Given the description of an element on the screen output the (x, y) to click on. 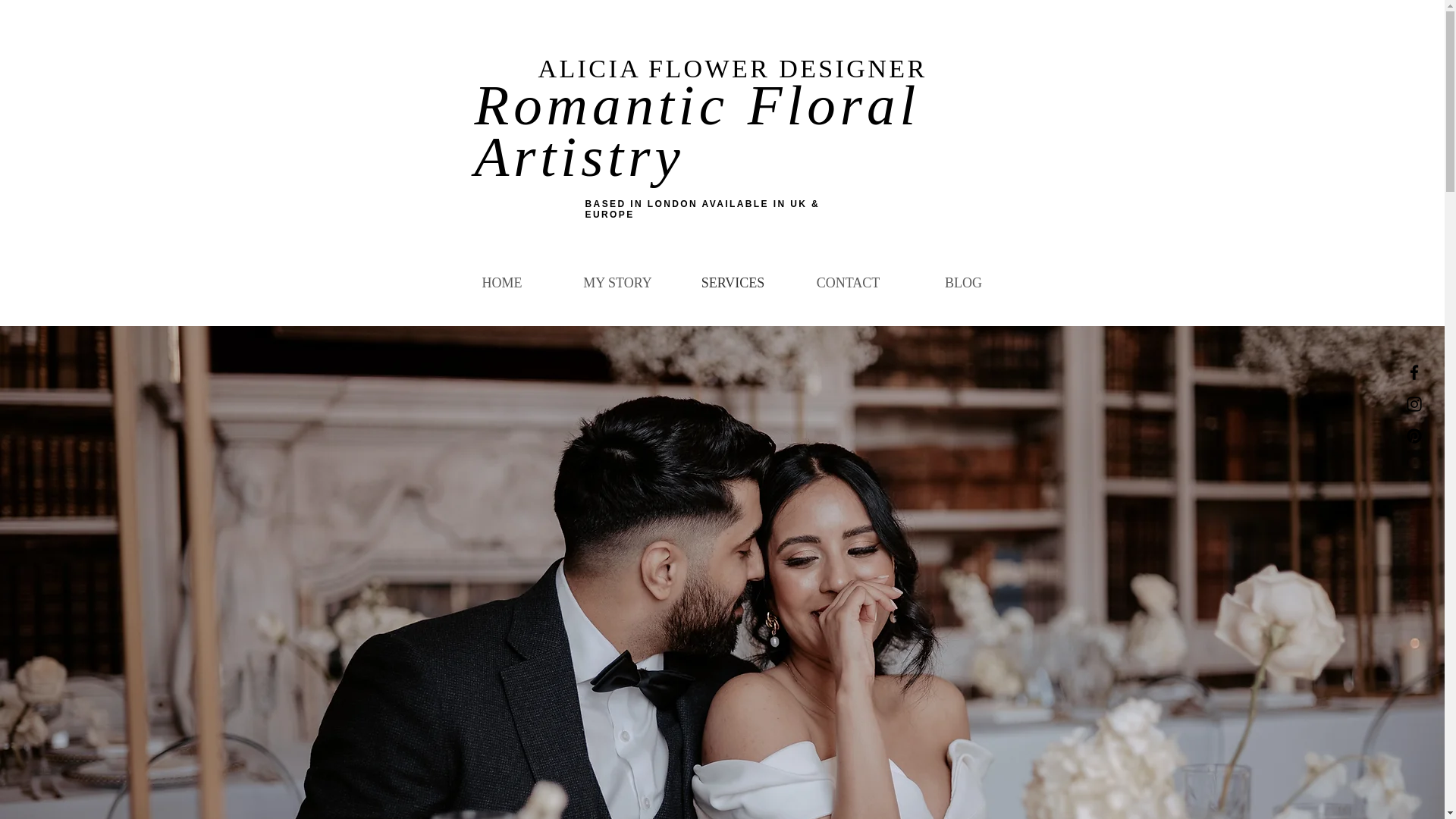
HOME (502, 282)
BLOG (962, 282)
CONTACT (847, 282)
SERVICES (732, 282)
MY STORY (617, 282)
